Given the description of an element on the screen output the (x, y) to click on. 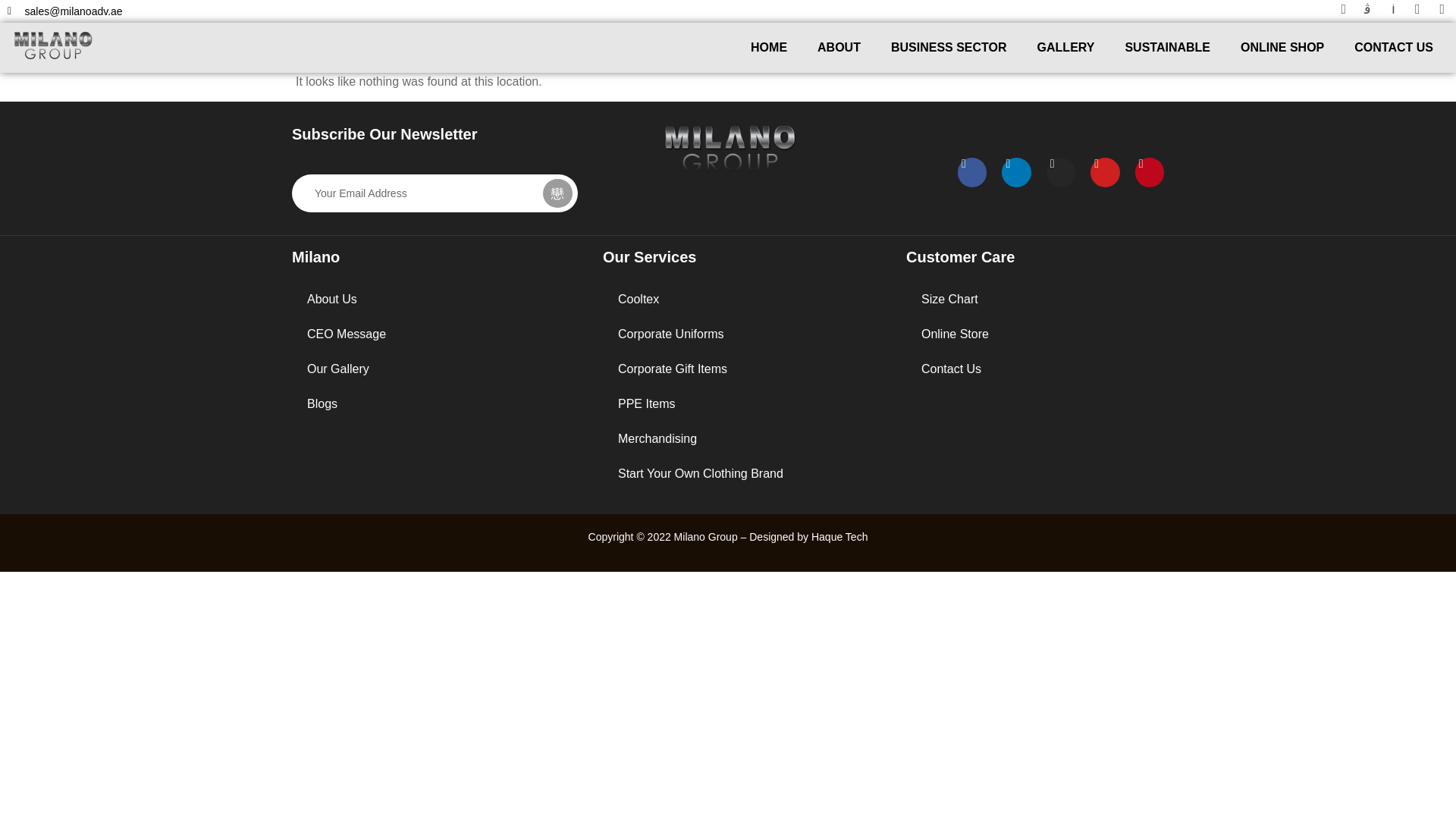
Milano Gradient Logo rgb-01 (53, 45)
BUSINESS SECTOR (949, 47)
ONLINE SHOP (1282, 47)
ABOUT (839, 47)
HOME (768, 47)
GALLERY (1065, 47)
SUSTAINABLE (1167, 47)
CONTACT US (1393, 47)
